Given the description of an element on the screen output the (x, y) to click on. 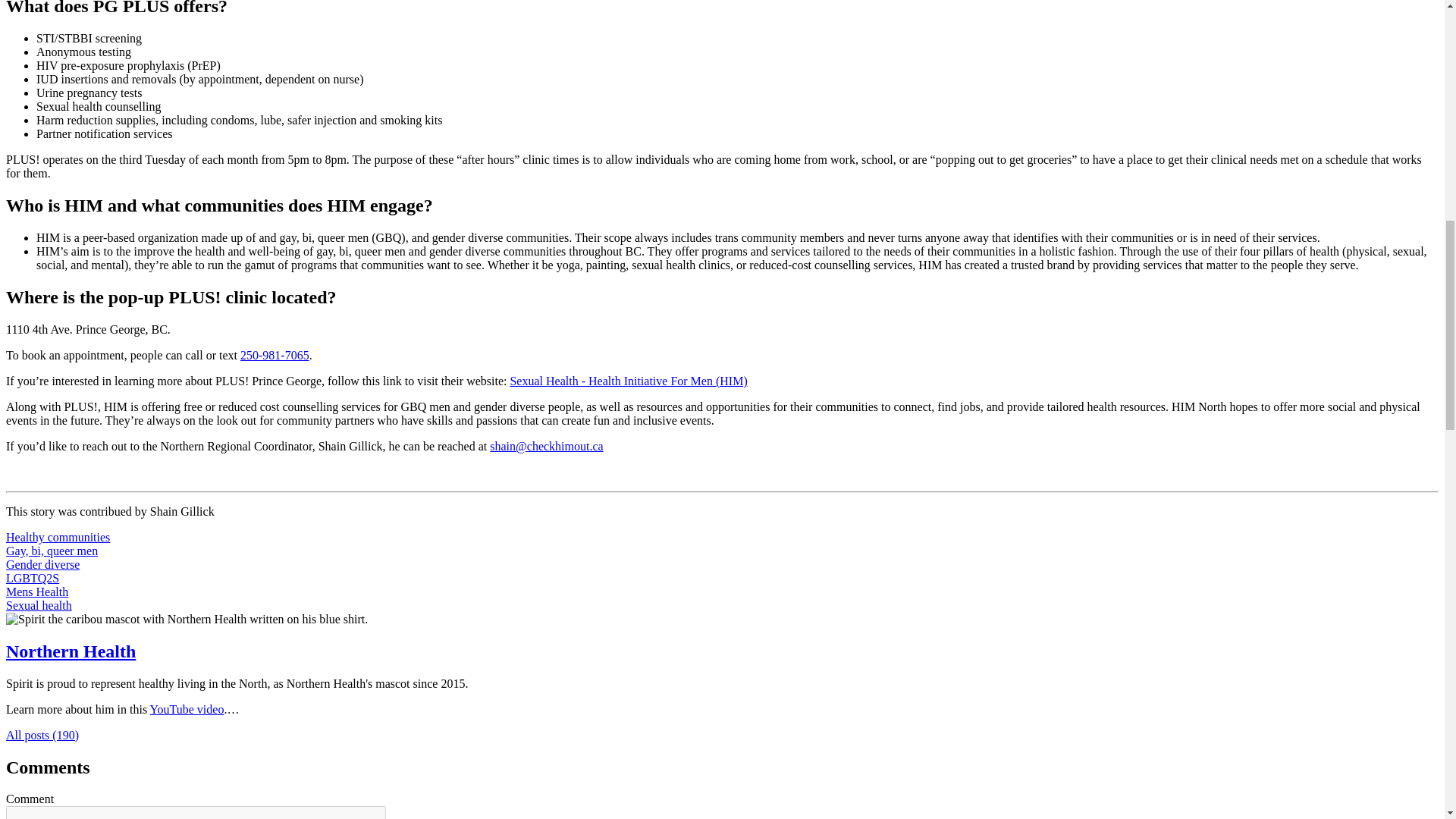
Northern Health (70, 650)
Gender diverse (42, 563)
Mens Health (36, 591)
250-981-7065 (274, 354)
Gay, bi, queer men (51, 550)
Healthy communities (57, 536)
LGBTQ2S (32, 577)
YouTube video (186, 708)
Sexual health (38, 604)
